Given the description of an element on the screen output the (x, y) to click on. 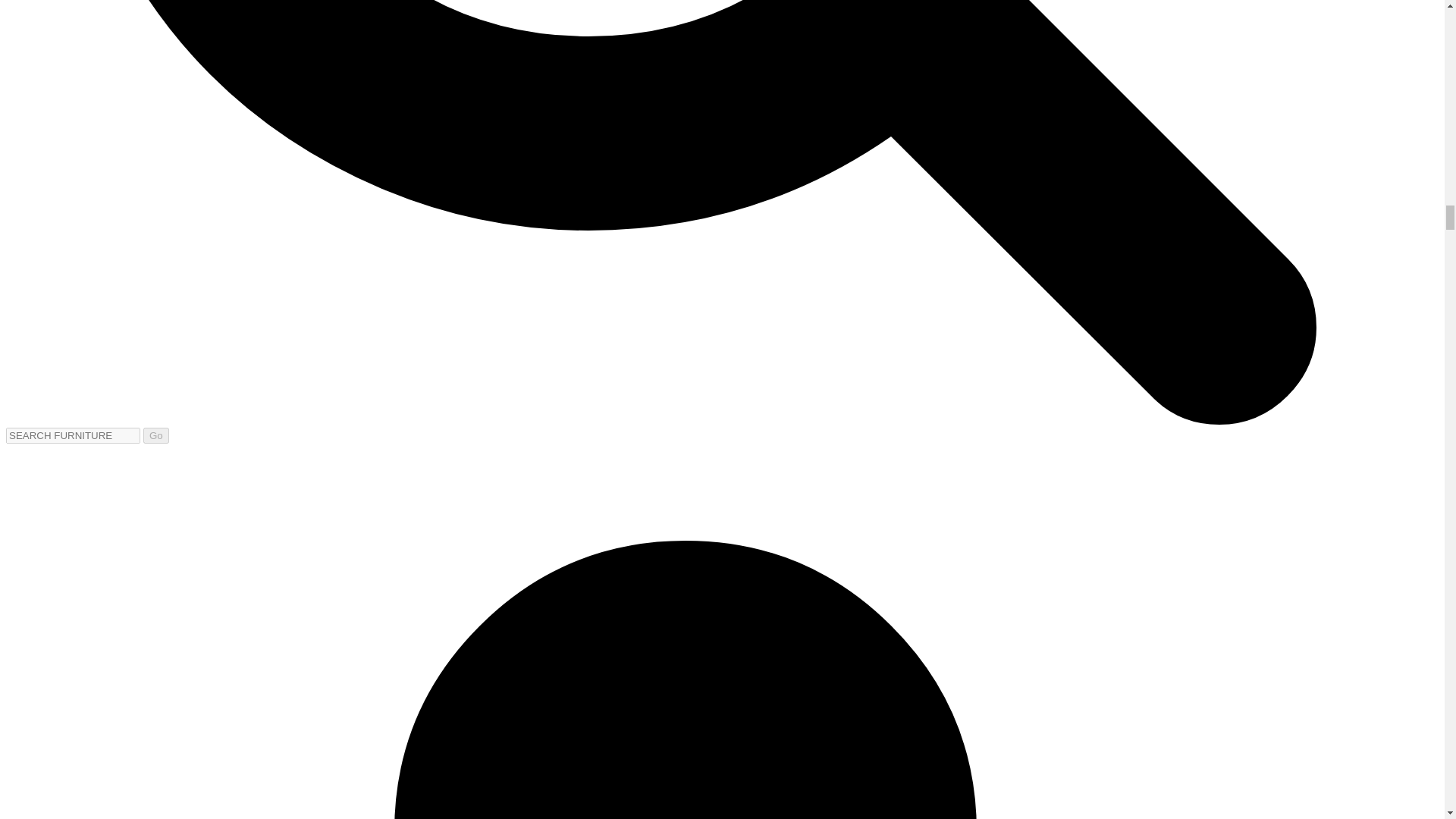
Go (155, 435)
Go (155, 435)
